Given the description of an element on the screen output the (x, y) to click on. 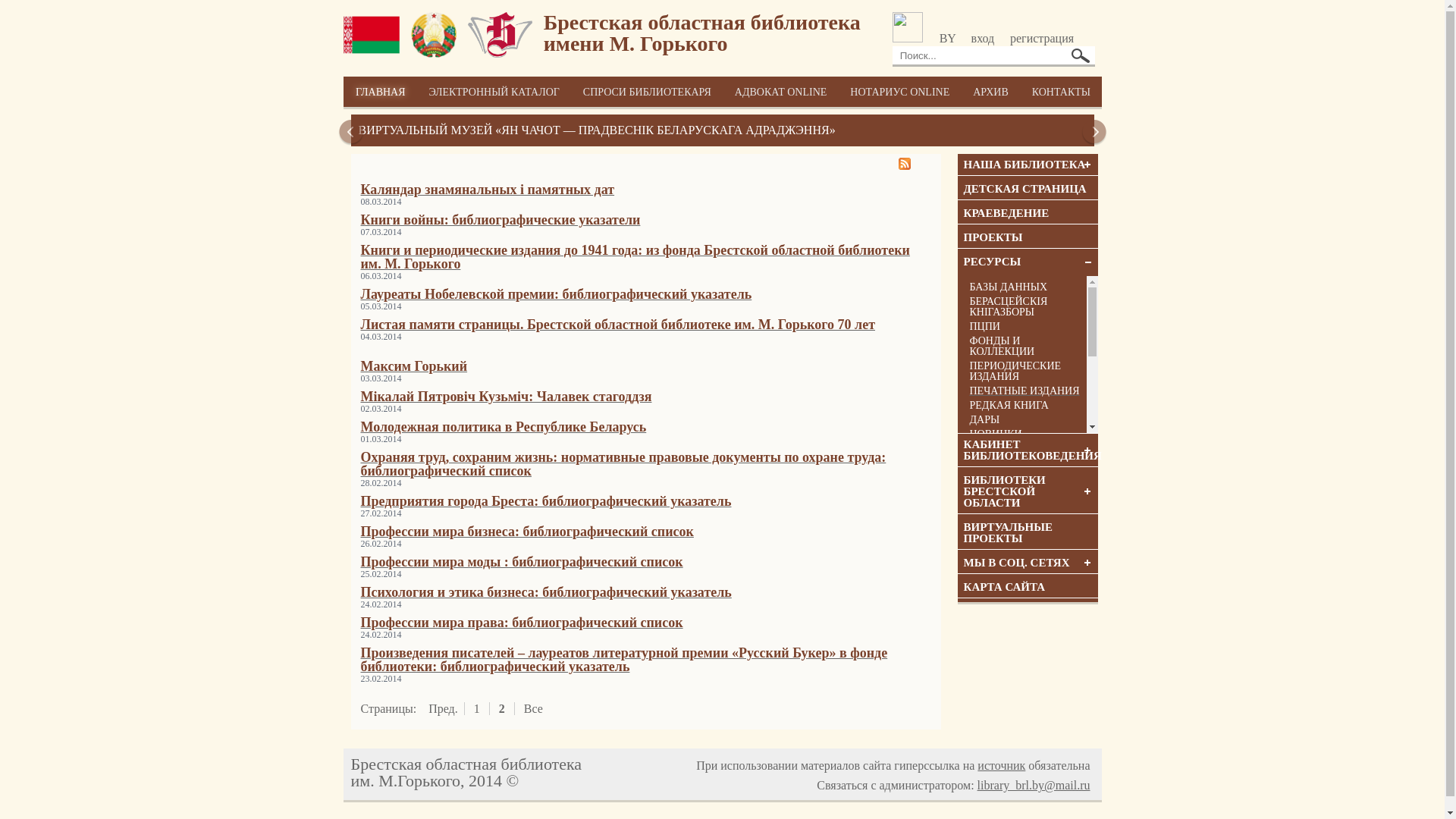
library_brl.by@mail.ru Element type: text (1033, 784)
1 Element type: text (476, 708)
BY Element type: text (947, 37)
